Given the description of an element on the screen output the (x, y) to click on. 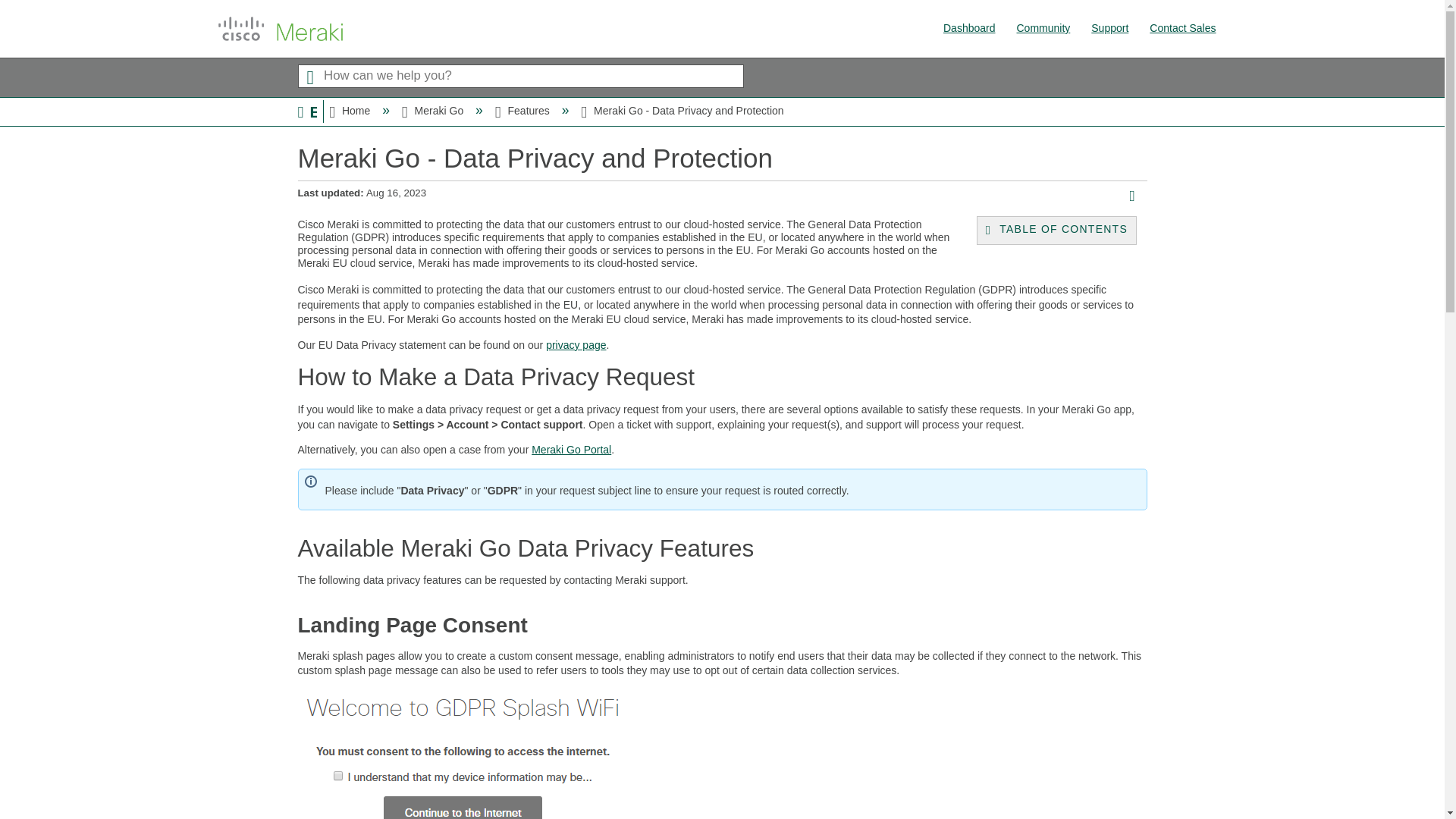
Contact Sales (1182, 28)
Meraki Go Portal (571, 449)
Community (1043, 28)
Meraki Go (433, 110)
TABLE OF CONTENTS (1053, 230)
SEARCH (310, 76)
Home (350, 110)
Features (524, 110)
Support (1109, 28)
Export page as a PDF (1136, 196)
Dashboard (969, 28)
privacy page (575, 345)
Save as PDF (1136, 196)
